Given the description of an element on the screen output the (x, y) to click on. 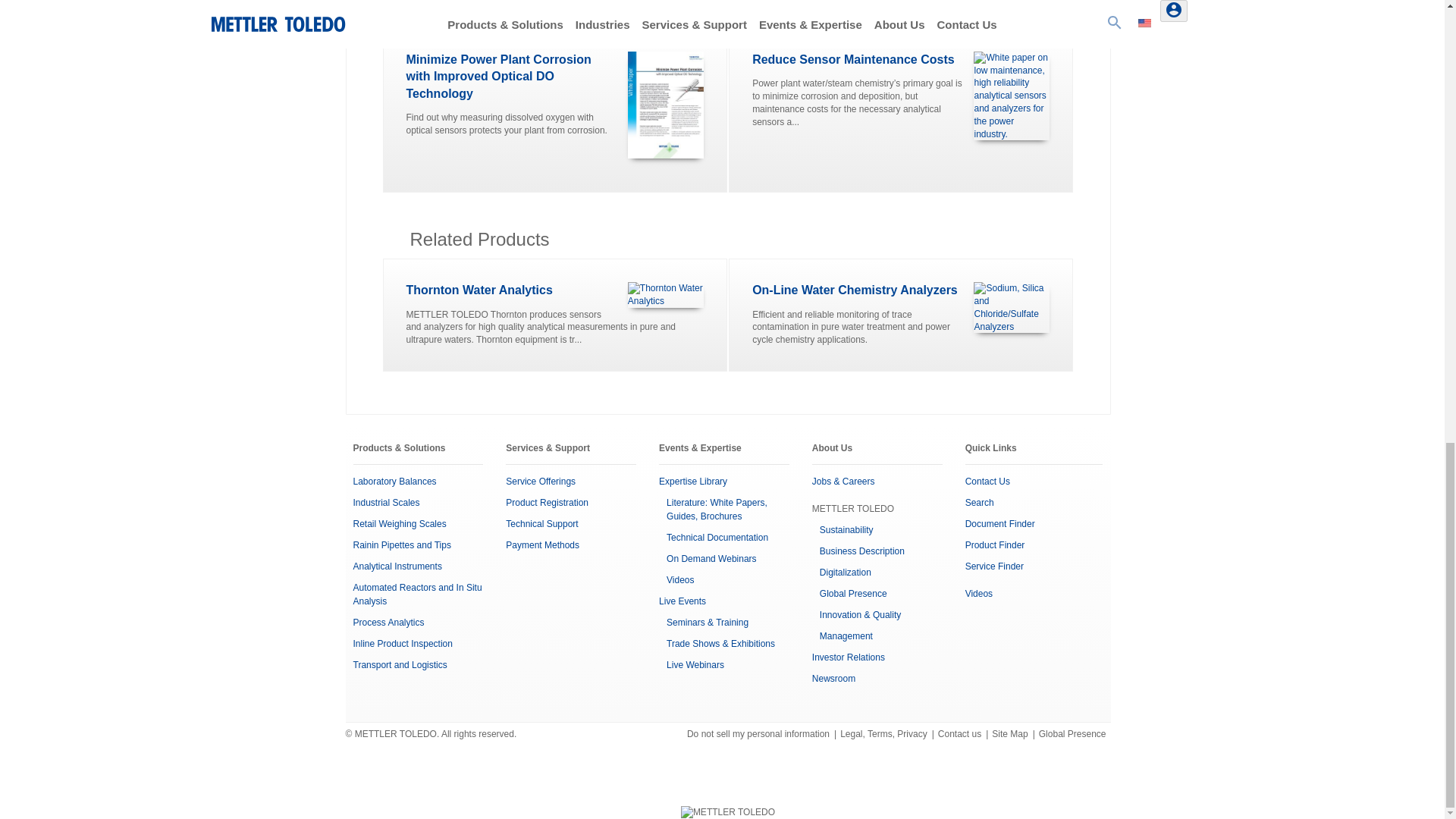
Laboratory Balances (394, 480)
Automated Reactors and In Situ Analysis (417, 594)
Industrial Scales (386, 502)
Process Analytics (389, 622)
Rainin Pipettes and Tips (402, 544)
On-Line Water Chemistry Analyzers (855, 289)
Thornton Water Analytics (665, 294)
Analytical Instruments (397, 566)
Reduce Sensor Maintenance Costs (852, 59)
Thornton Water Analytics (479, 289)
Retail Weighing Scales (399, 523)
